Given the description of an element on the screen output the (x, y) to click on. 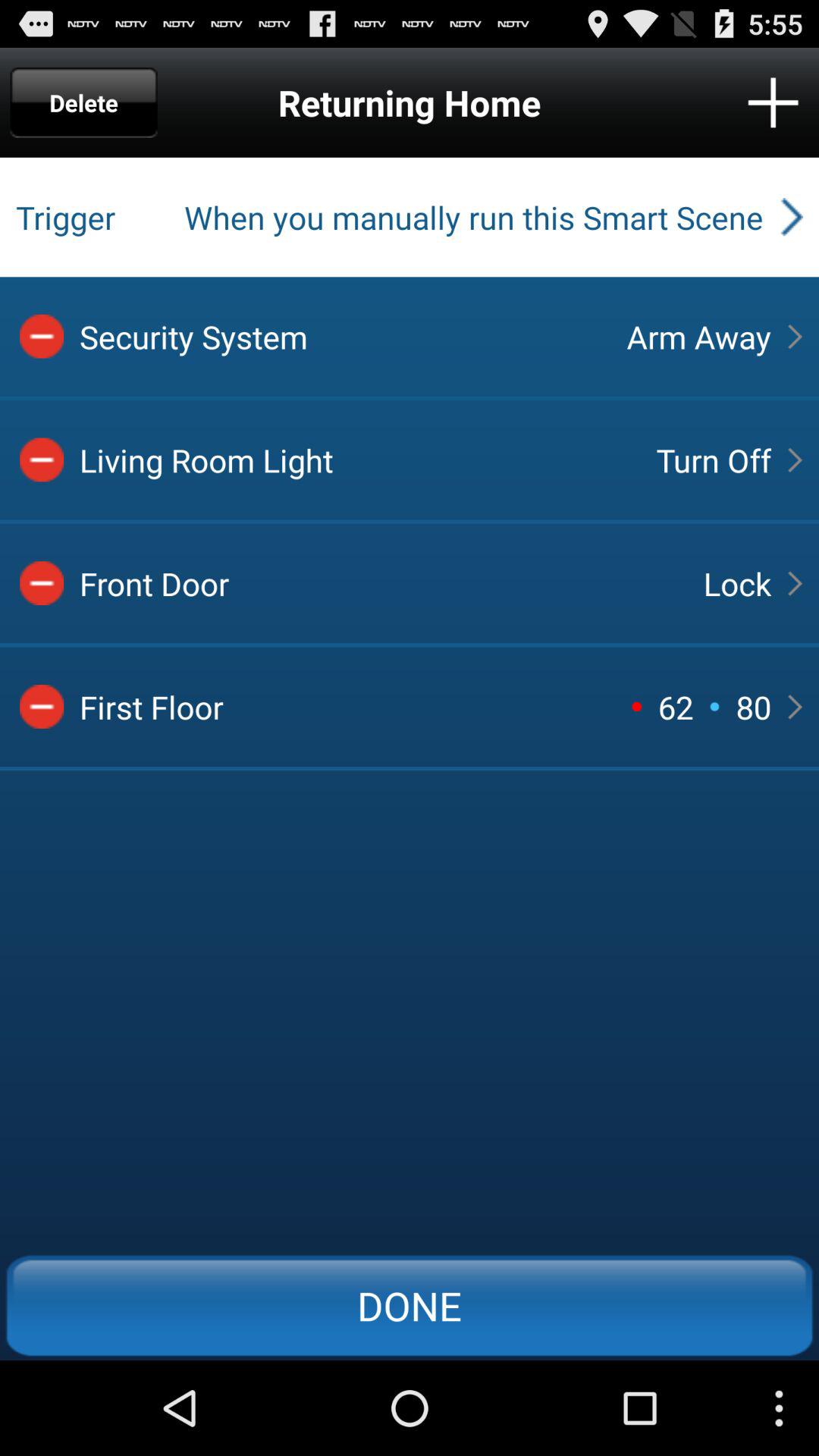
delete (41, 706)
